Given the description of an element on the screen output the (x, y) to click on. 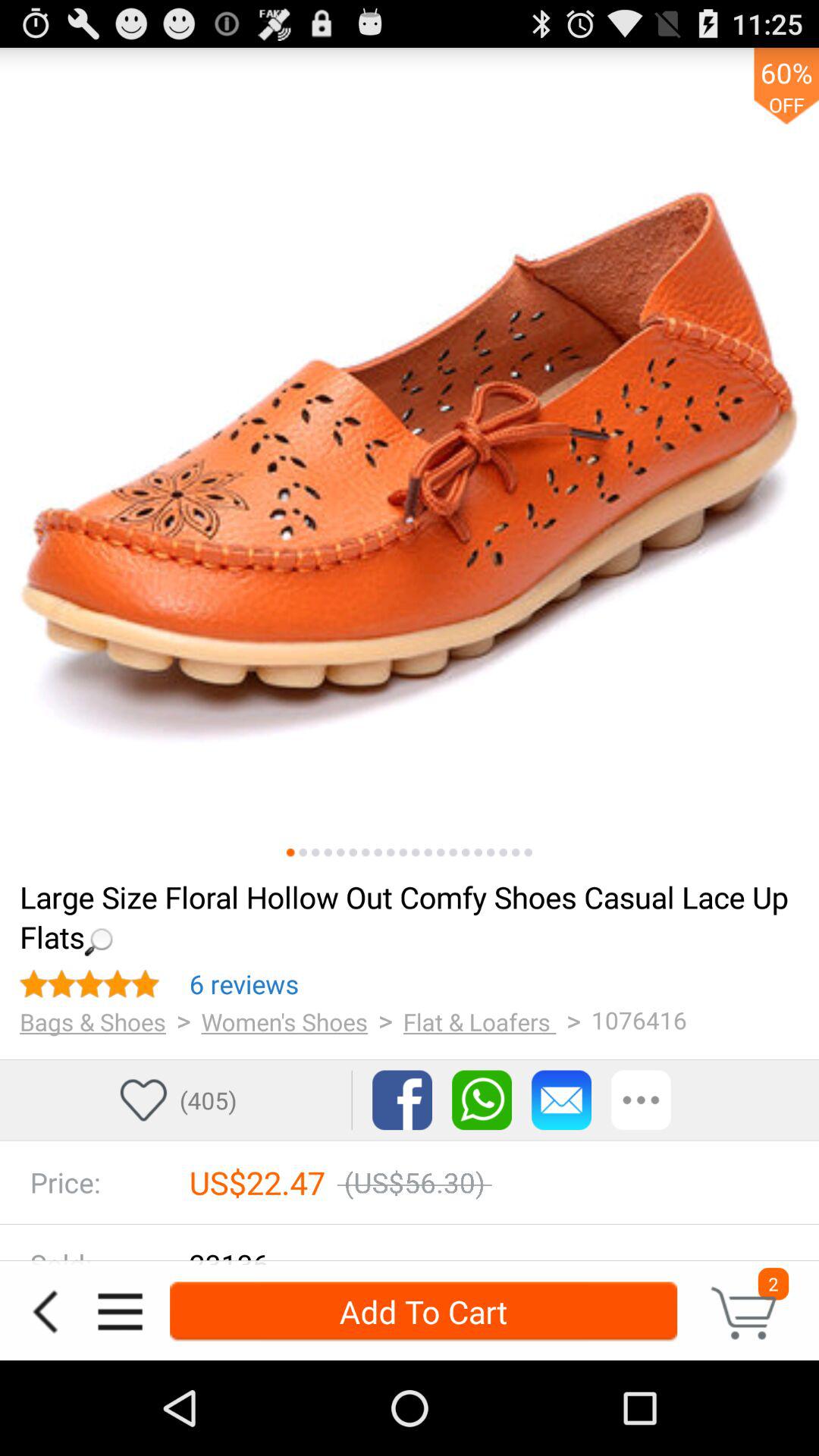
toggle to picture (503, 852)
